Given the description of an element on the screen output the (x, y) to click on. 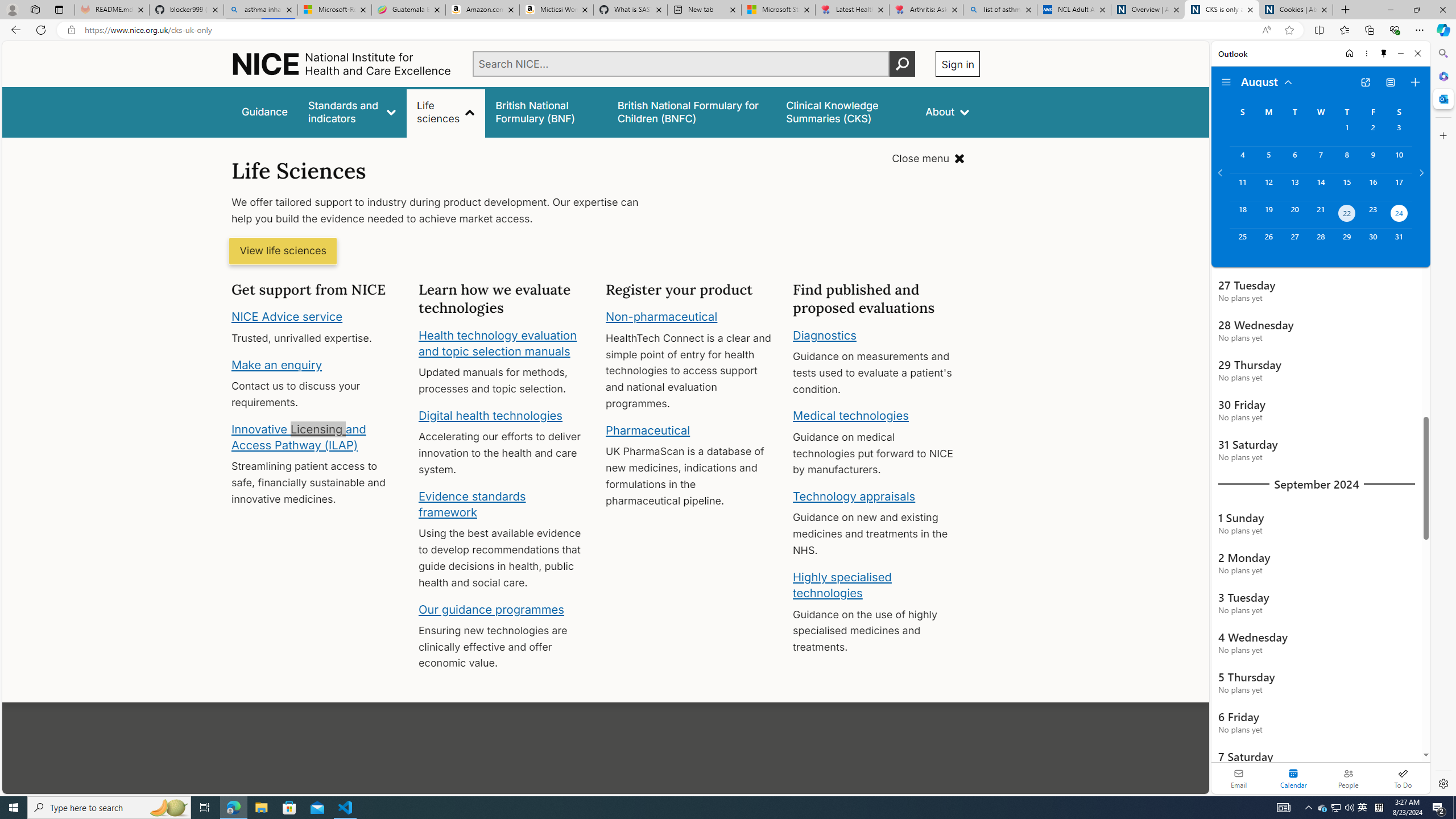
Saturday, August 3, 2024.  (1399, 132)
CKS is only available in the UK | NICE (1221, 9)
Wednesday, August 28, 2024.  (1320, 241)
Open in new tab (1365, 82)
Thursday, August 1, 2024.  (1346, 132)
Saturday, August 17, 2024.  (1399, 186)
Monday, August 5, 2024.  (1268, 159)
